Given the description of an element on the screen output the (x, y) to click on. 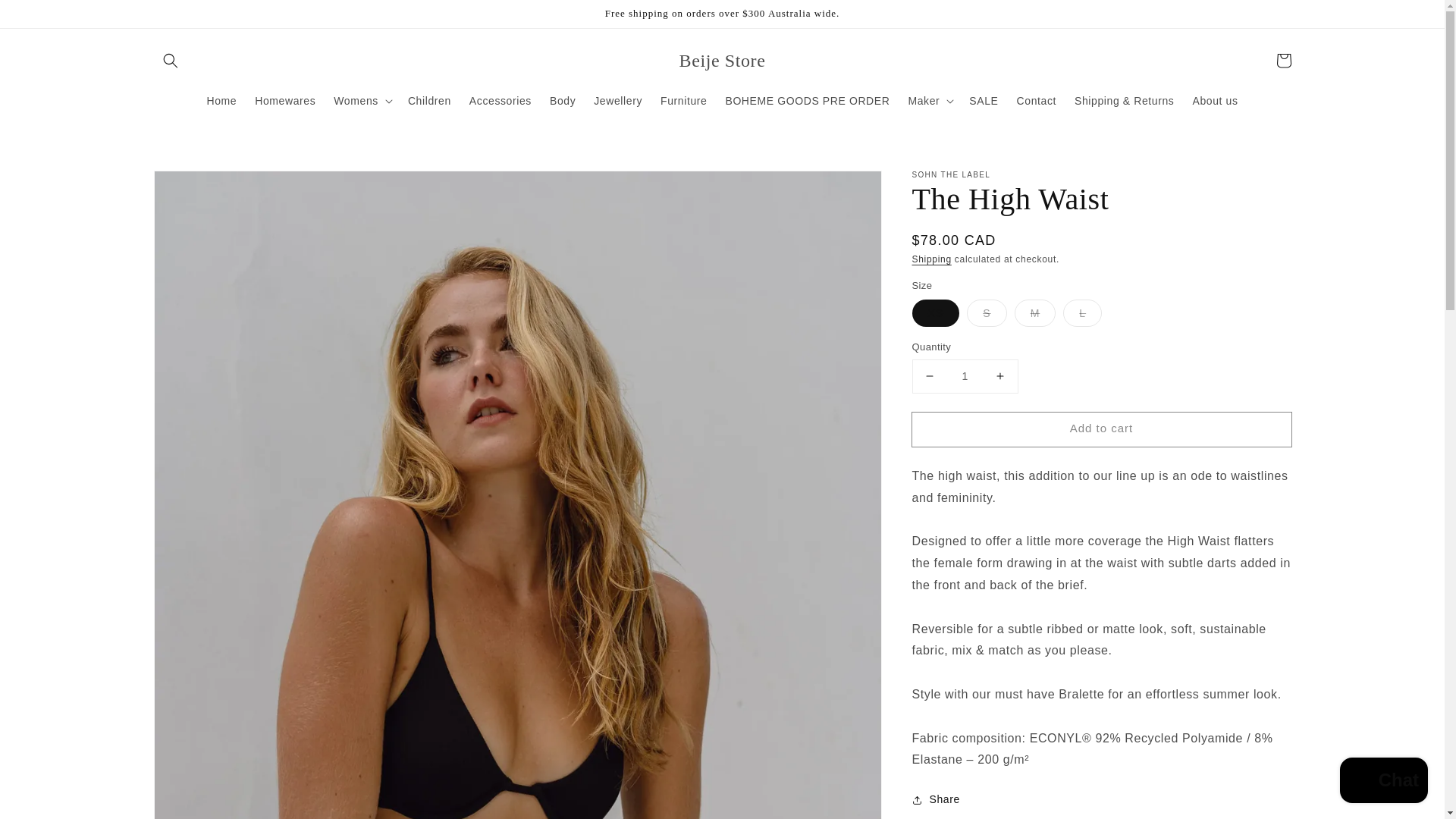
1 (964, 376)
Skip to content (45, 16)
Shopify online store chat (1383, 781)
